Given the description of an element on the screen output the (x, y) to click on. 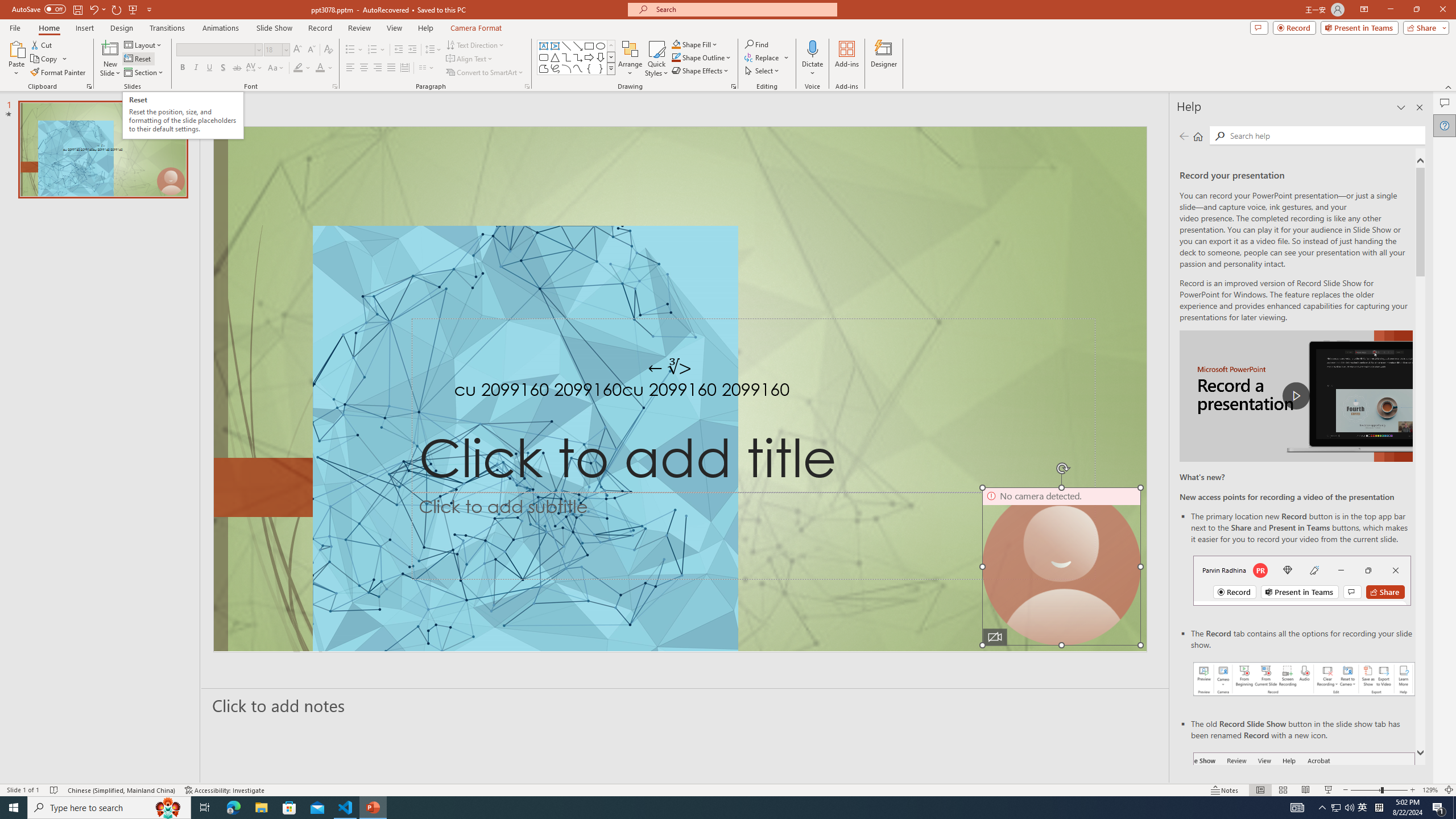
Italic (195, 67)
Decrease Indent (398, 49)
Strikethrough (237, 67)
Decrease Font Size (310, 49)
Convert to SmartArt (485, 72)
Freeform: Shape (543, 68)
Shape Fill Dark Green, Accent 2 (675, 44)
Vertical Text Box (554, 45)
Class: MsoCommandBar (728, 789)
Office Clipboard... (88, 85)
